Given the description of an element on the screen output the (x, y) to click on. 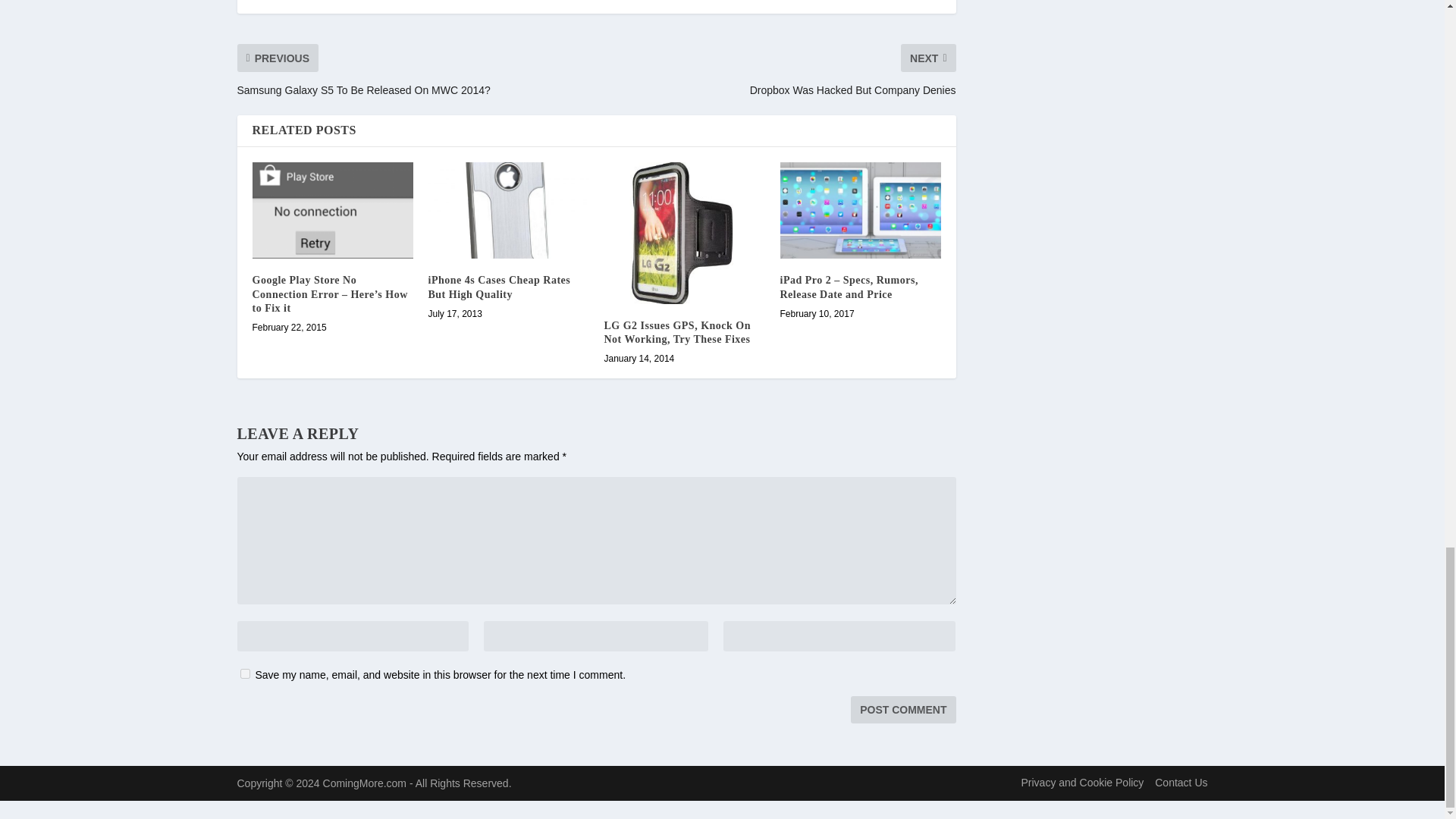
Share "Solve iPhone 5S Blue Screen Of Dead Issue" via Buffer (577, 1)
Share "Solve iPhone 5S Blue Screen Of Dead Issue" via Tumblr (486, 1)
yes (244, 673)
Share "Solve iPhone 5S Blue Screen Of Dead Issue" via Email (638, 1)
Post Comment (902, 709)
